Given the description of an element on the screen output the (x, y) to click on. 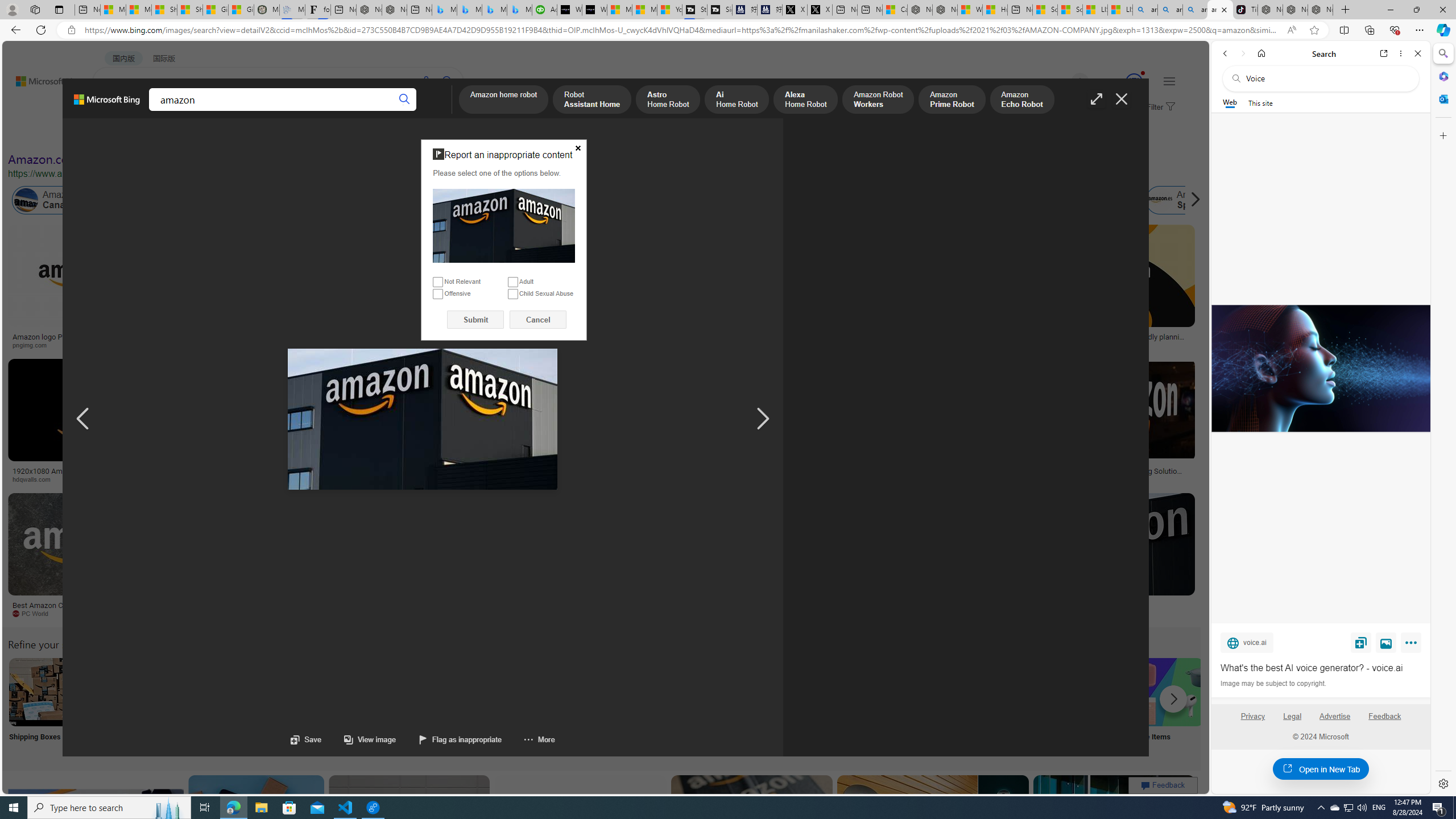
Type (212, 135)
Save (306, 739)
Submit (474, 319)
downdetector.ae (937, 344)
Amazon Kids (263, 199)
Layout (253, 135)
Amazon Forest (1023, 199)
Home (1261, 53)
Feedback (1384, 720)
Amazon Package Delivery Package Delivery (418, 706)
Advertise (1335, 715)
More (1413, 644)
